Given the description of an element on the screen output the (x, y) to click on. 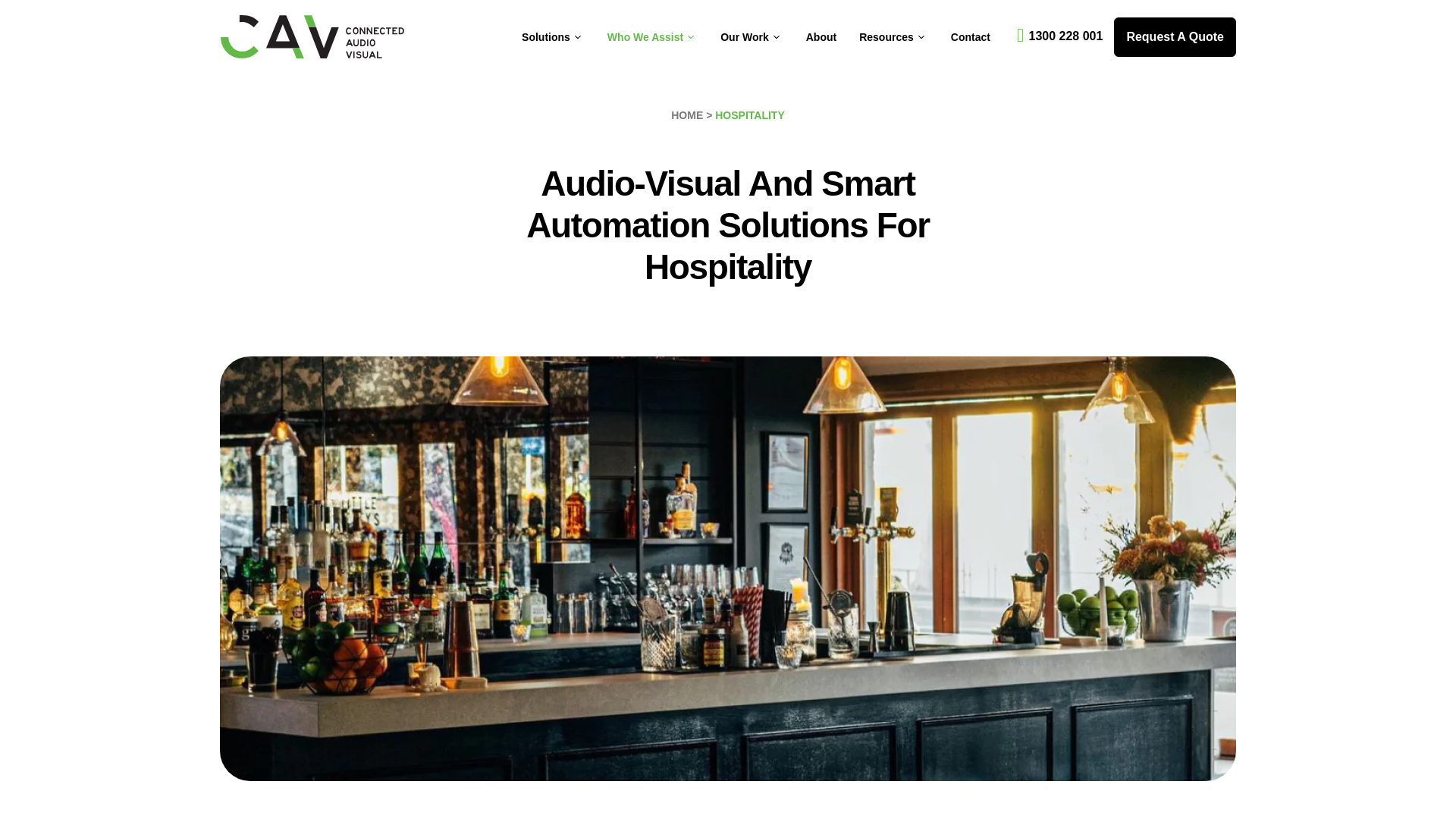
Solutions (564, 36)
Our Work (763, 36)
Solutions (564, 36)
CAV logo (311, 36)
Who We Assist (663, 36)
